Given the description of an element on the screen output the (x, y) to click on. 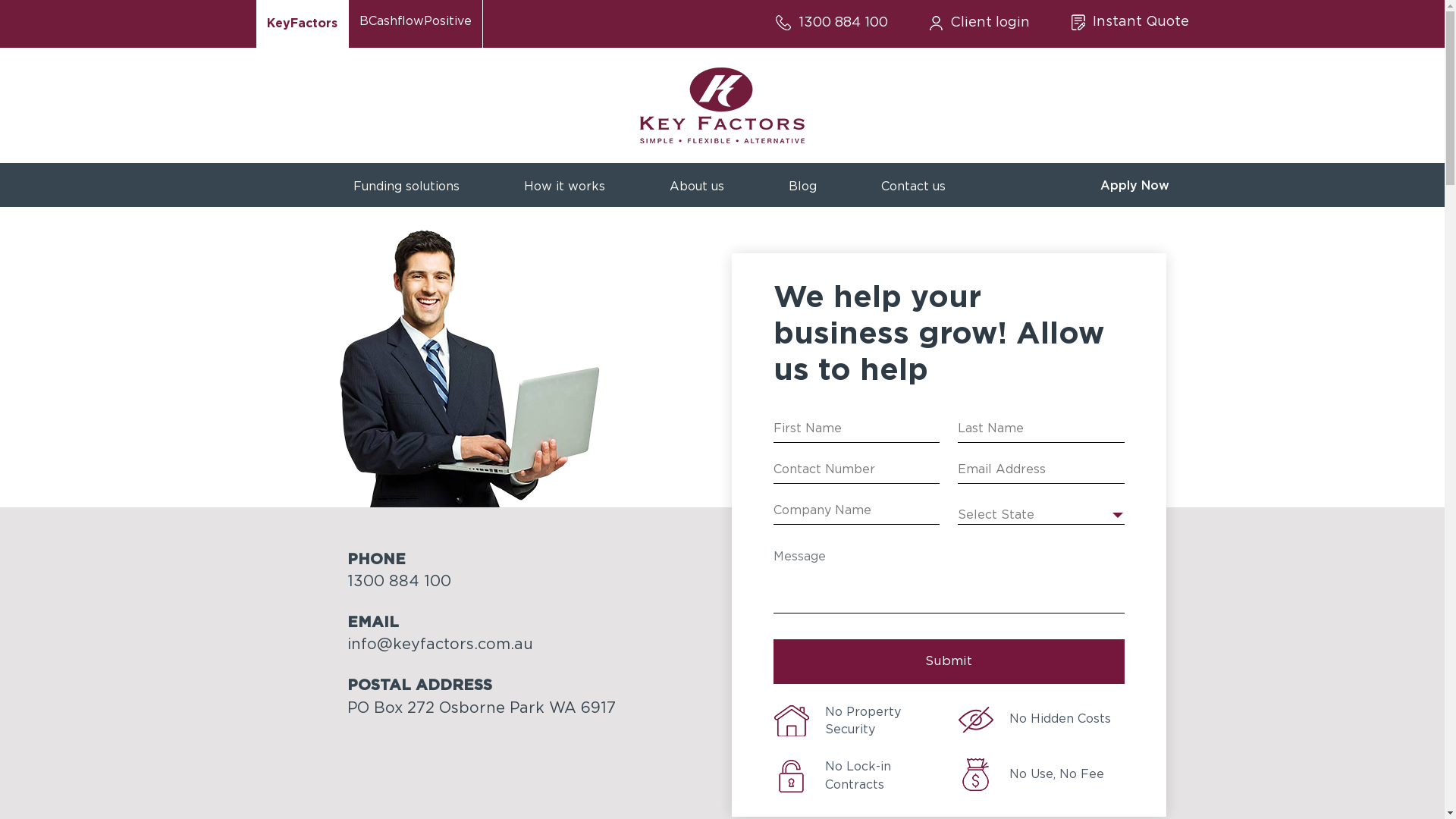
info@keyfactors.com.au Element type: text (440, 644)
Client login Element type: text (979, 22)
BCashflowPositive Element type: text (415, 23)
1300 884 100 Element type: text (831, 22)
How it works Element type: text (564, 184)
Submit Element type: text (948, 661)
Blog Element type: text (801, 184)
Funding solutions Element type: text (405, 184)
Contact us Element type: text (912, 184)
Instant Quote Element type: text (1129, 21)
1300 884 100 Element type: text (399, 581)
Apply Now Element type: text (1133, 185)
About us Element type: text (696, 184)
KeyFactors Element type: text (302, 23)
